Given the description of an element on the screen output the (x, y) to click on. 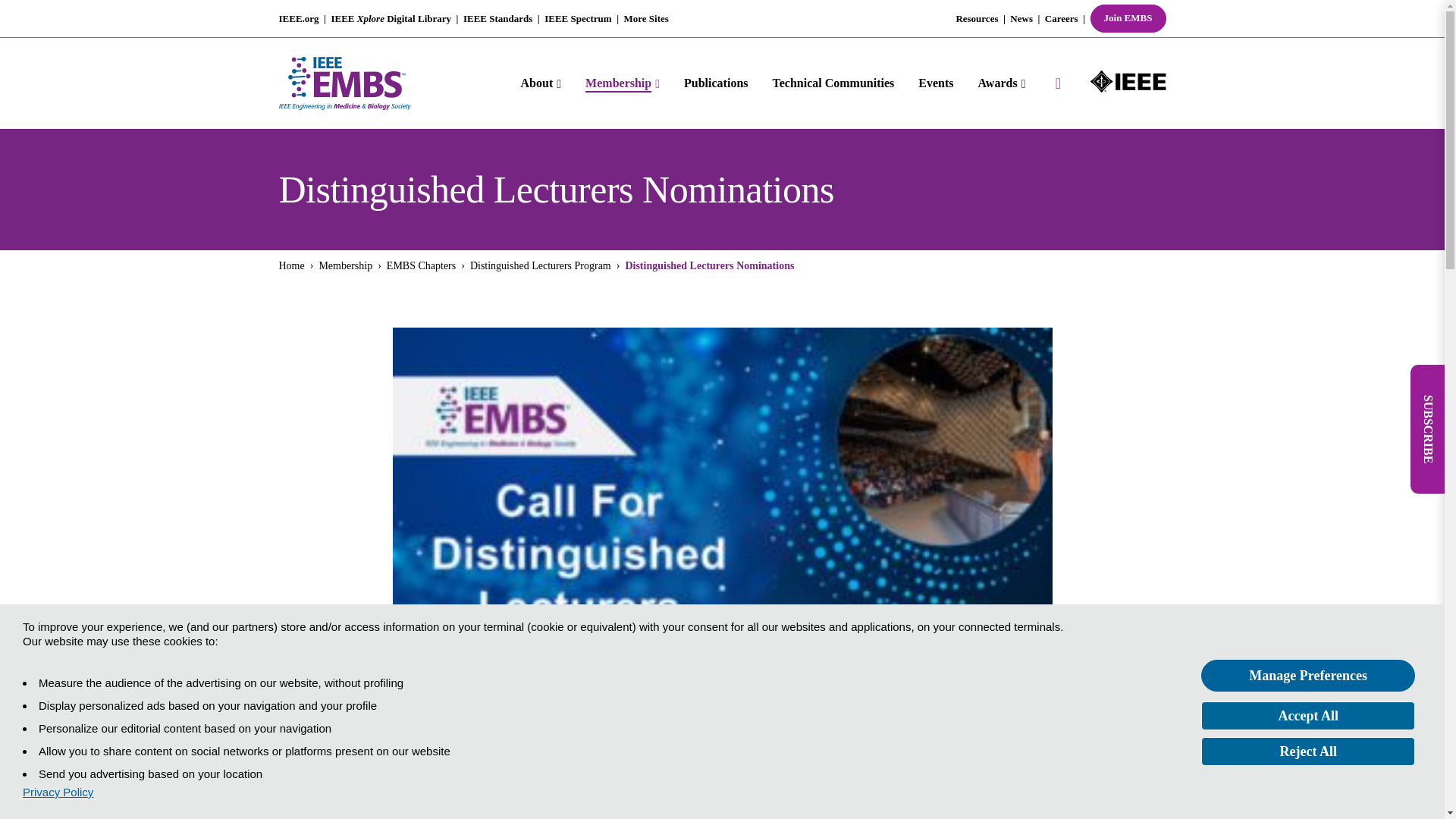
IEEE.org (298, 18)
News (1021, 18)
Reject All (1308, 751)
Accept All (1308, 715)
Careers (1061, 18)
IEEE Standards (497, 18)
IEEE Spectrum (577, 18)
Membership (622, 82)
Privacy Policy (58, 792)
More Sites (646, 18)
Resources (976, 18)
Manage Preferences (1308, 675)
Join EMBS (1128, 18)
IEEE Xplore Digital Library (390, 18)
